Given the description of an element on the screen output the (x, y) to click on. 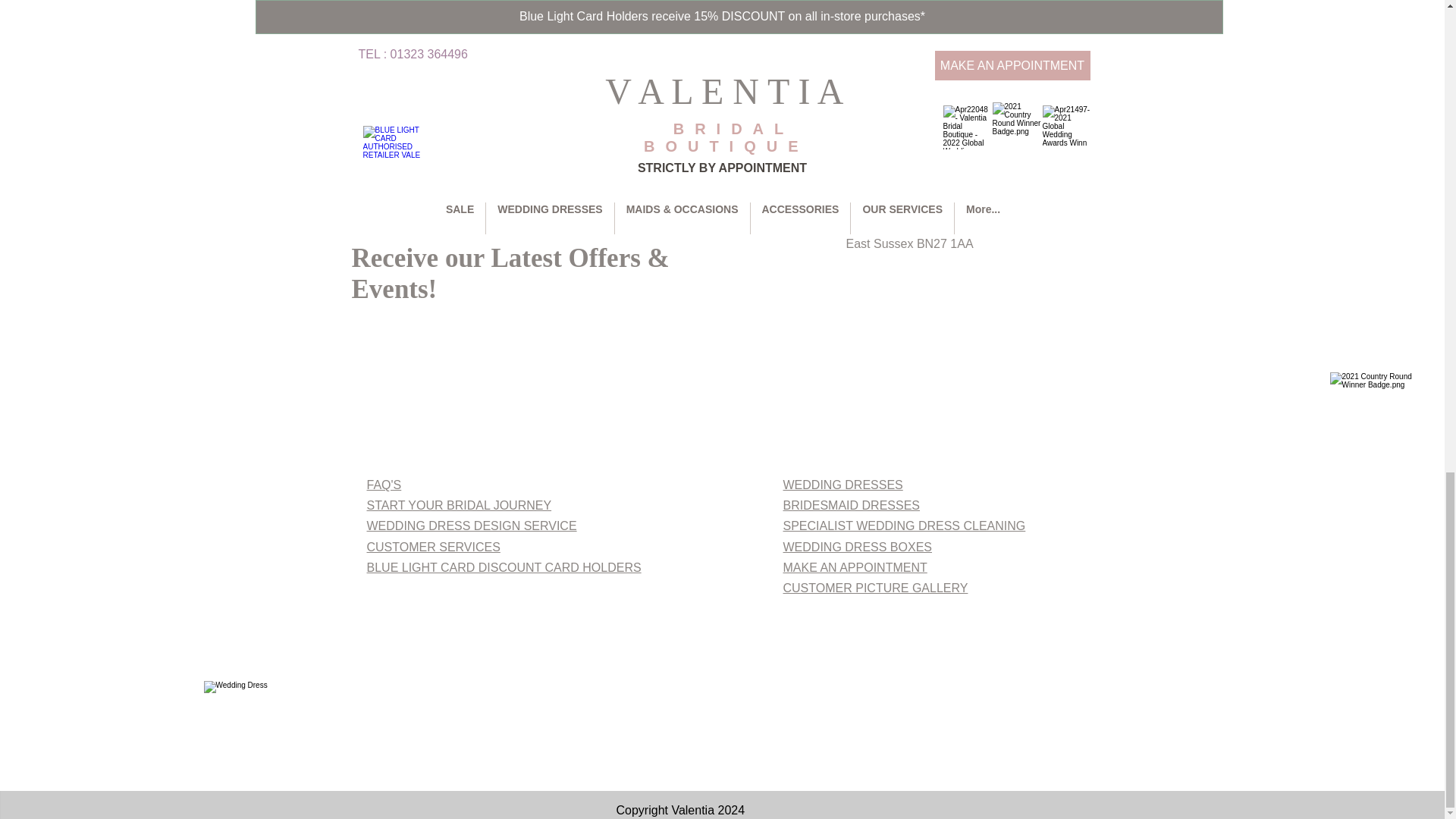
Best Wedding Dresses UK (703, 735)
